Given the description of an element on the screen output the (x, y) to click on. 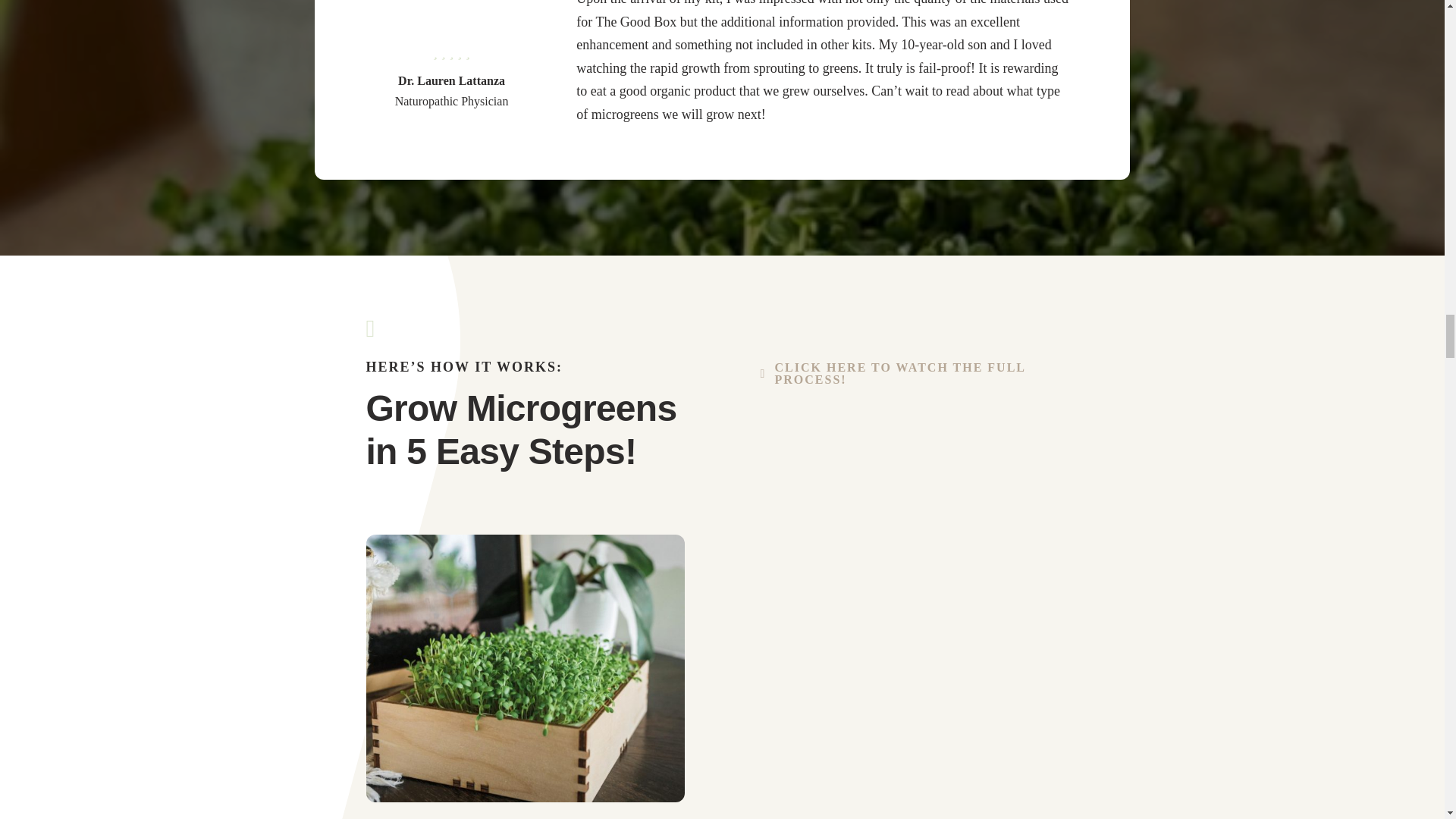
CLICK HERE TO WATCH THE FULL PROCESS! (919, 373)
